Given the description of an element on the screen output the (x, y) to click on. 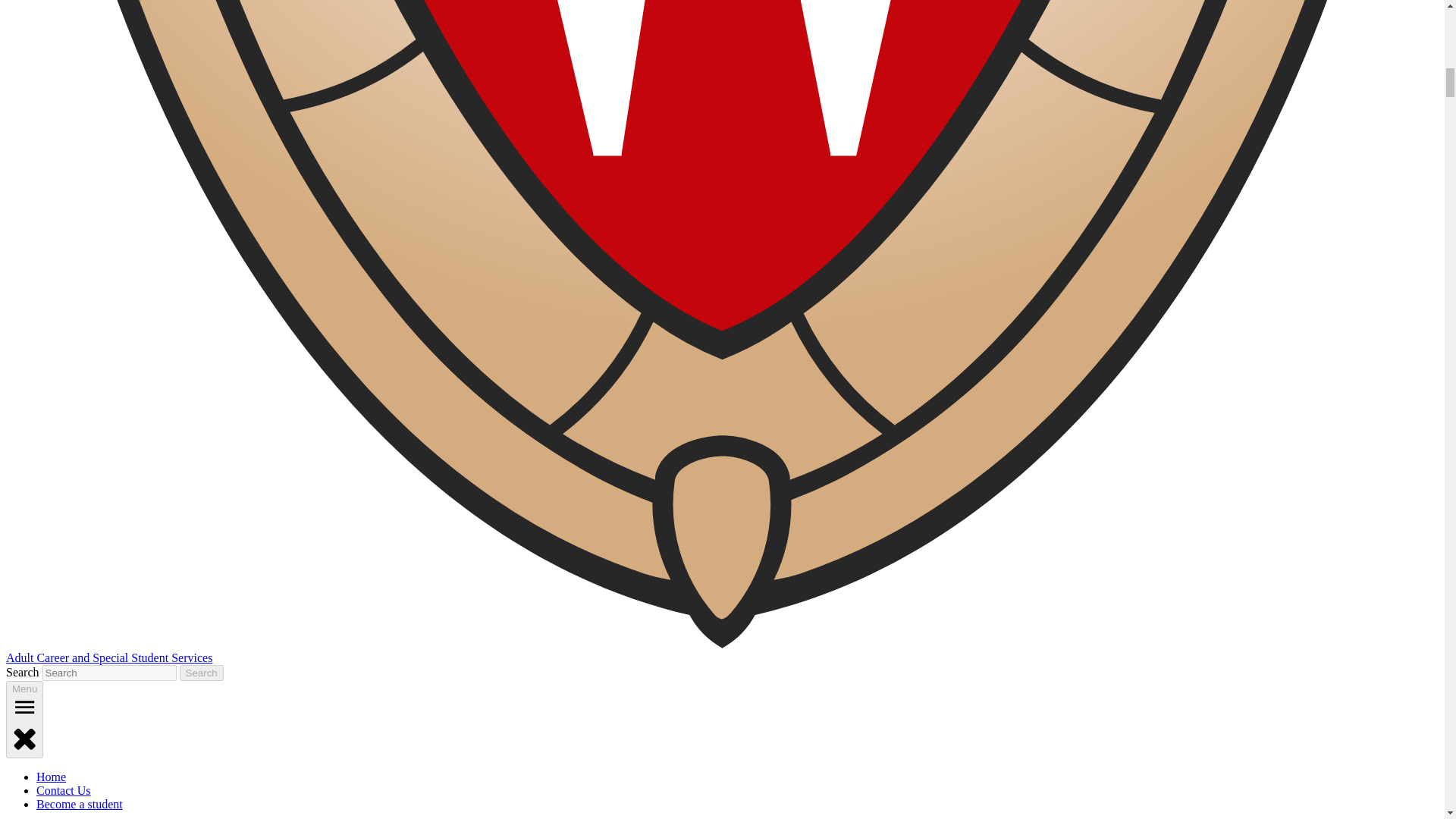
Search (201, 672)
Search (201, 672)
Adult Career and Special Student Services (108, 657)
Home (50, 776)
Menu open menu close (24, 719)
close (24, 737)
Search (201, 672)
Contact Us (63, 789)
open menu (24, 706)
